Given the description of an element on the screen output the (x, y) to click on. 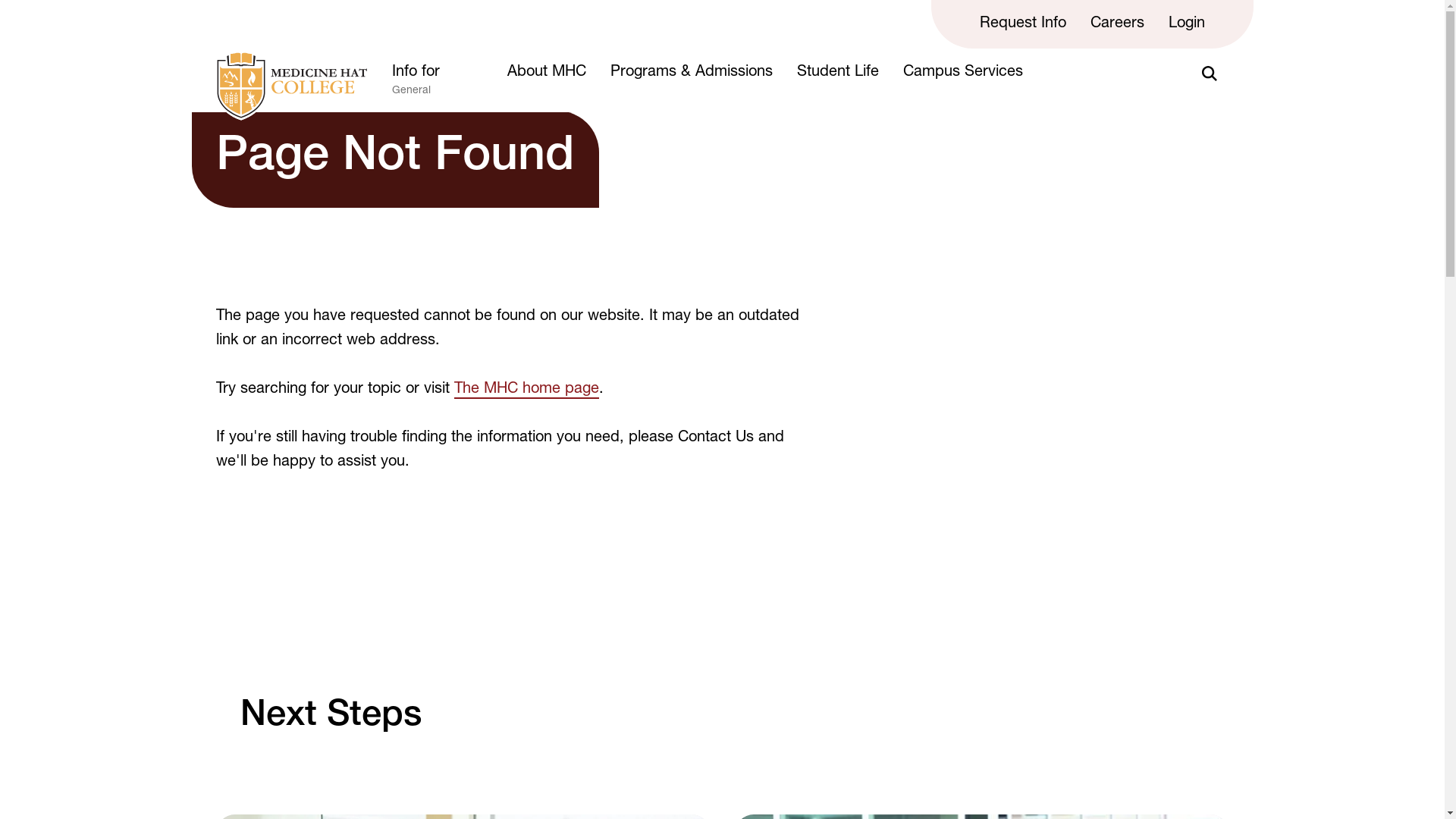
Campus Services Element type: text (962, 72)
Info for
General Element type: text (436, 85)
Search Element type: hover (1209, 73)
Programs & Admissions Element type: text (690, 72)
Careers Element type: text (1117, 24)
About MHC Element type: text (545, 72)
Student Life Element type: text (837, 72)
Login Element type: text (1185, 24)
Request Info Element type: text (1022, 24)
The MHC home page Element type: text (525, 390)
